Given the description of an element on the screen output the (x, y) to click on. 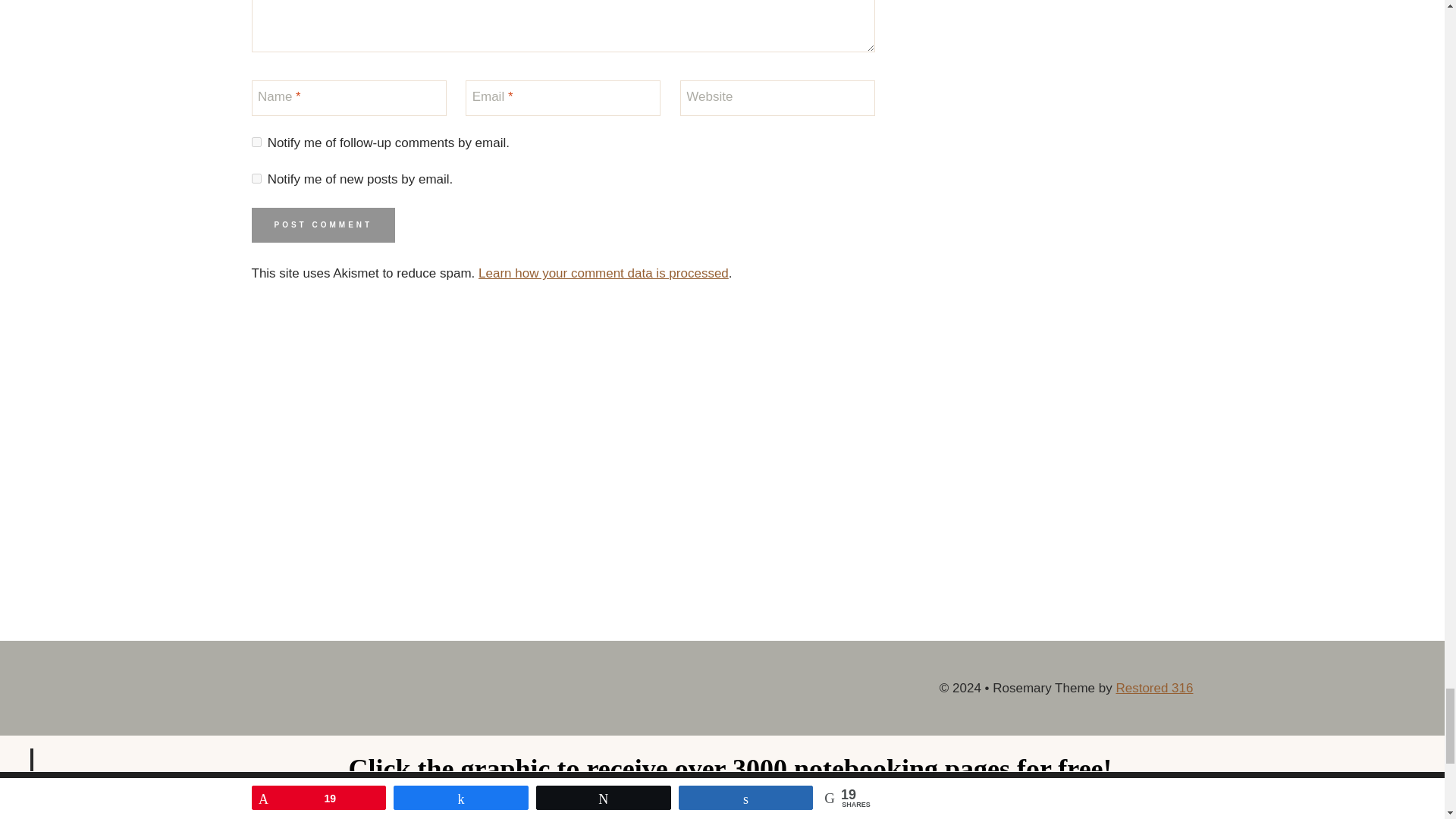
subscribe (256, 142)
subscribe (256, 178)
Post Comment (323, 225)
